Given the description of an element on the screen output the (x, y) to click on. 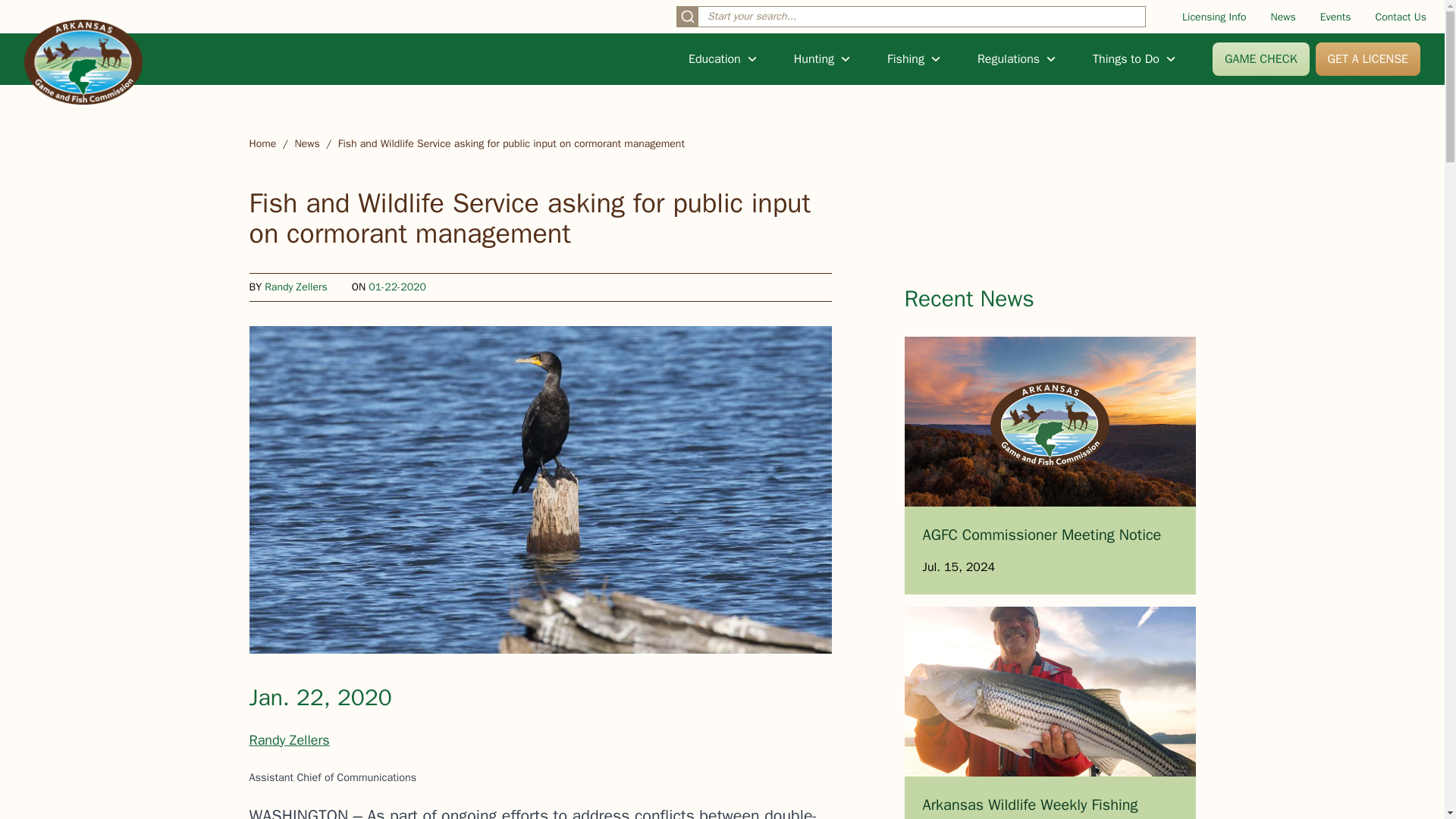
Hunting (821, 58)
Education (722, 58)
Contact Us (1400, 16)
Licensing Info (1214, 16)
News (1283, 16)
Events (1335, 16)
Submit (687, 16)
